Given the description of an element on the screen output the (x, y) to click on. 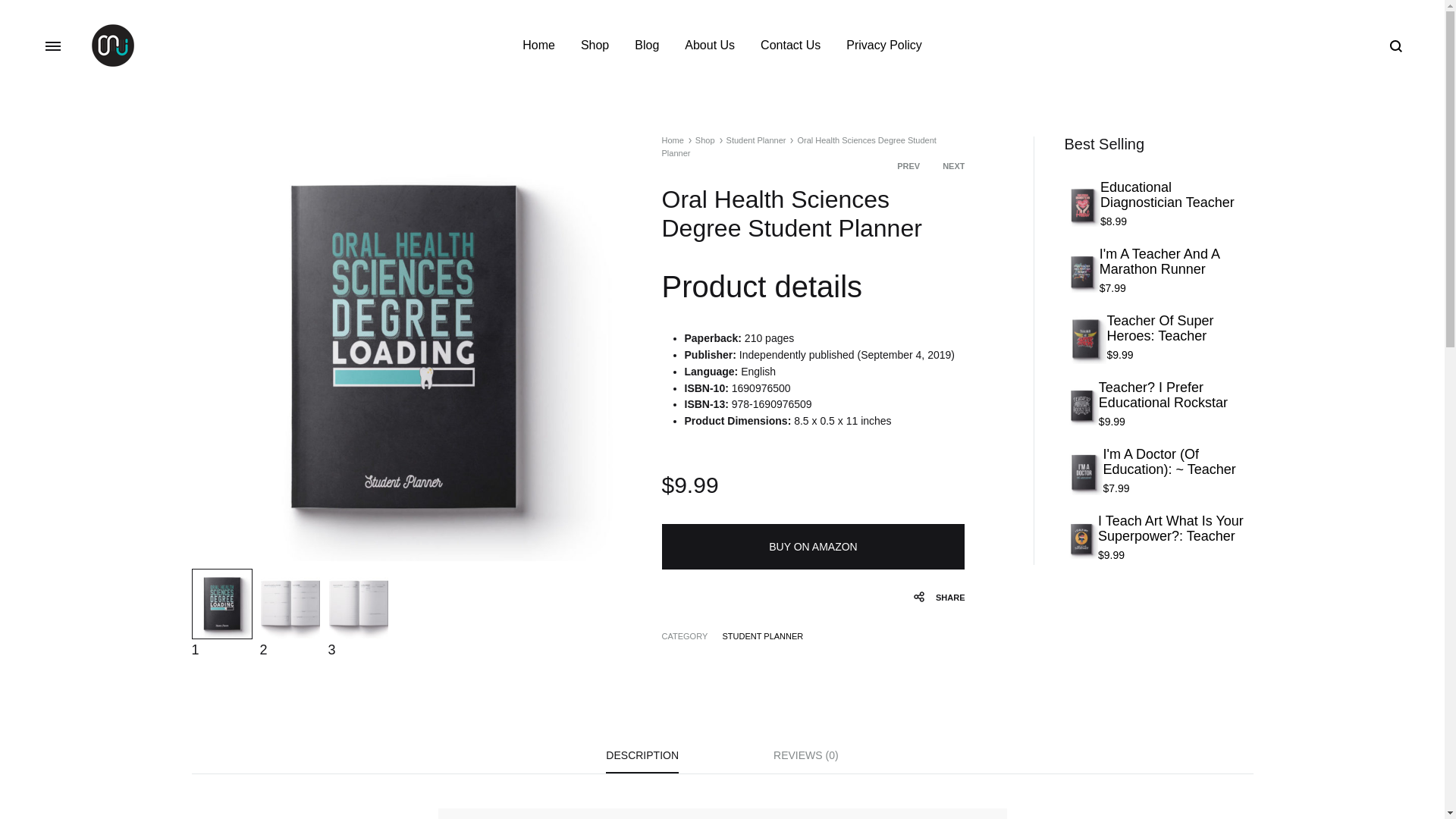
Privacy Policy (883, 45)
About Us (709, 45)
Contact Us (790, 45)
PREV (908, 165)
Home (538, 45)
Shop (704, 139)
BUY ON AMAZON (812, 546)
Blog (646, 45)
DESCRIPTION (641, 760)
Shop (594, 45)
NEXT (952, 165)
Home (671, 139)
STUDENT PLANNER (762, 635)
Student Planner (756, 139)
